Given the description of an element on the screen output the (x, y) to click on. 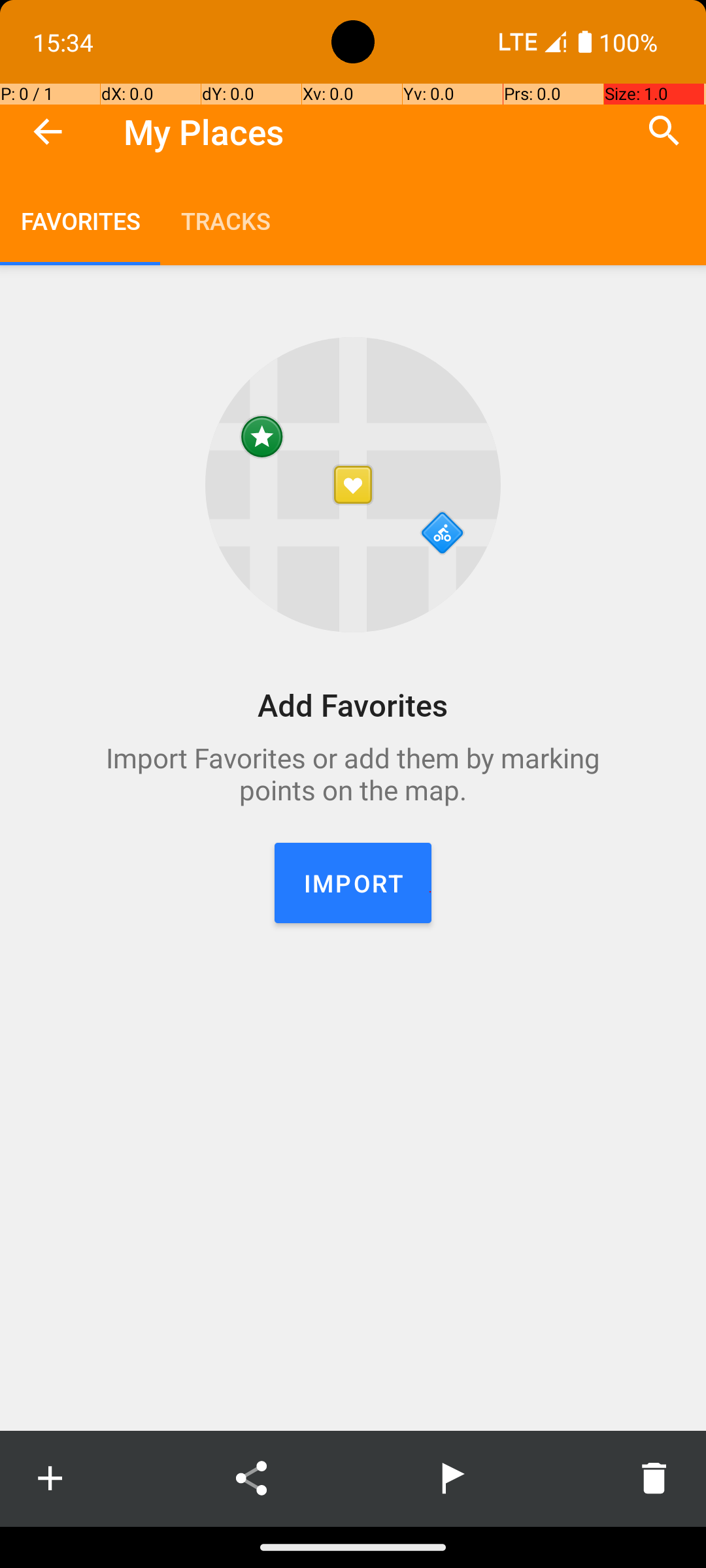
My Places Element type: android.widget.TextView (203, 131)
Add to 'Favorites' Element type: android.widget.Button (50, 1478)
Select map markers Element type: android.widget.Button (452, 1478)
FAVORITES Element type: android.widget.TextView (80, 220)
Add Favorites Element type: android.widget.TextView (352, 704)
Import Favorites or add them by marking points on the map. Element type: android.widget.TextView (352, 773)
IMPORT Element type: android.widget.Button (352, 882)
